Given the description of an element on the screen output the (x, y) to click on. 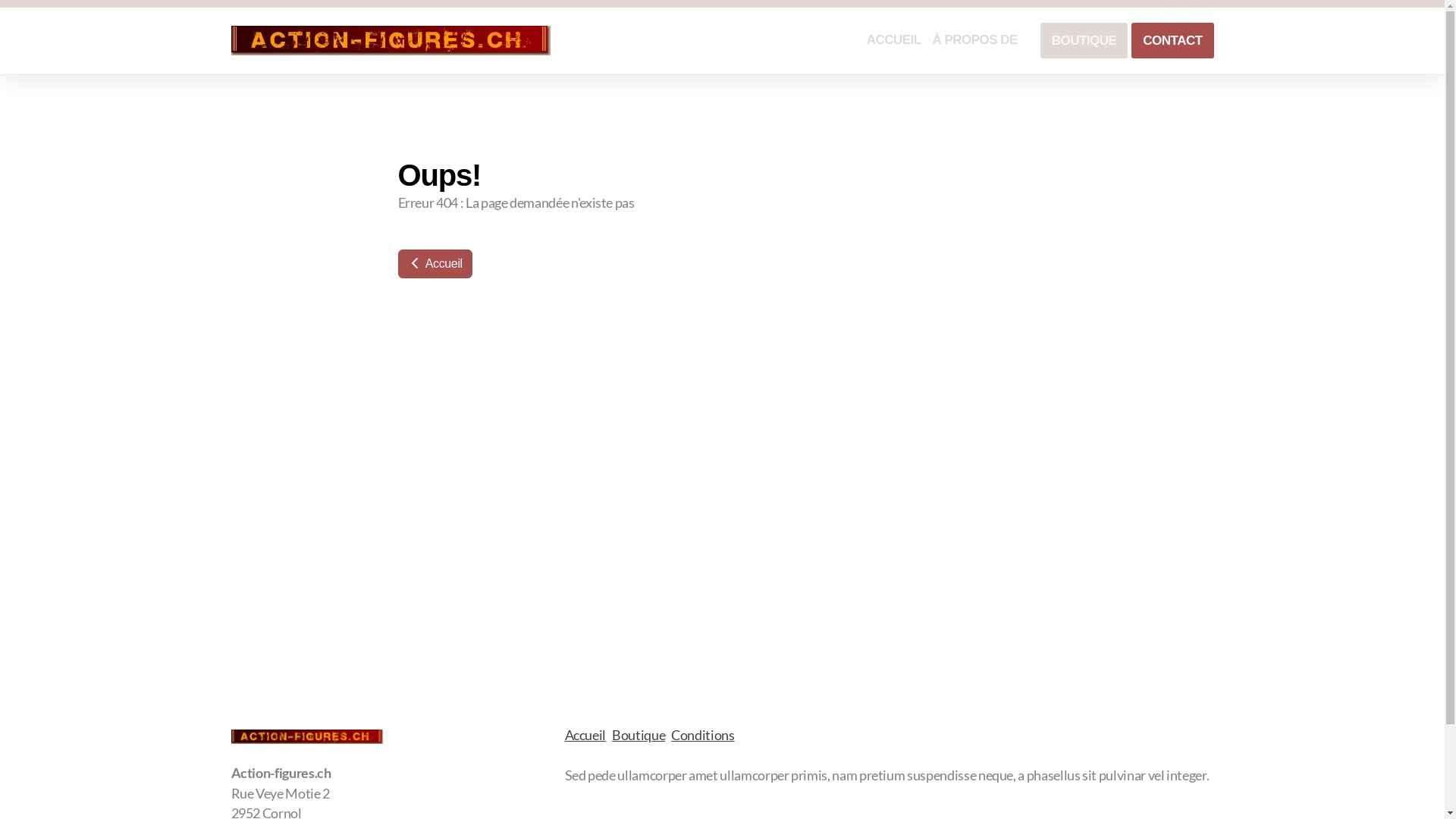
ACCUEIL Element type: text (893, 40)
Accueil Element type: text (434, 263)
Accueil Element type: text (584, 735)
Boutique Element type: text (638, 735)
Conditions Element type: text (702, 735)
BOUTIQUE Element type: text (1084, 40)
CONTACT Element type: text (1172, 40)
